Given the description of an element on the screen output the (x, y) to click on. 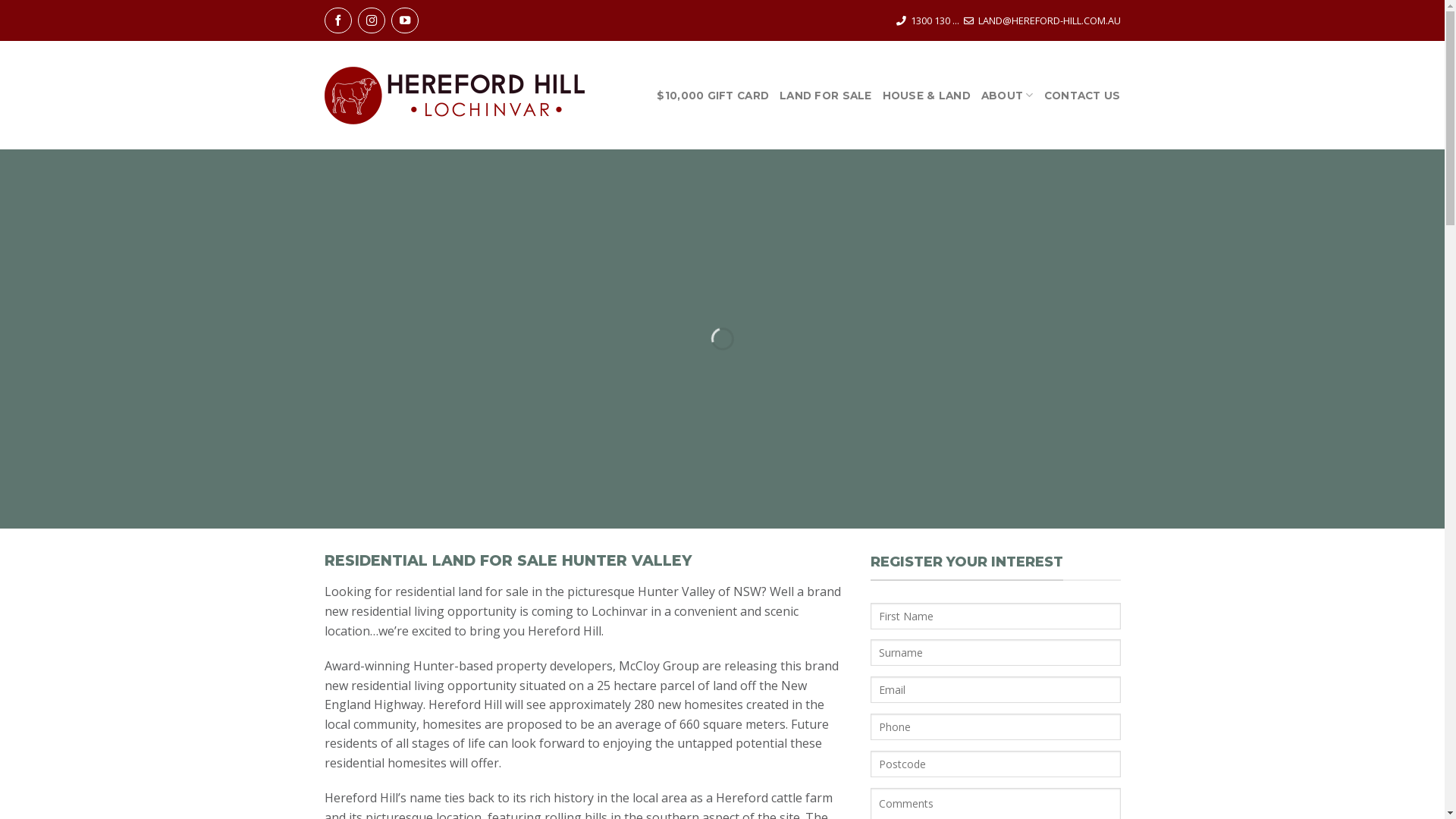
CONTACT US Element type: text (1082, 95)
LAND@HEREFORD-HILL.COM.AU Element type: text (1049, 20)
Follow on Facebook Element type: hover (337, 20)
Follow on YouTube Element type: hover (404, 20)
$10,000 GIFT CARD Element type: text (712, 95)
LAND FOR SALE Element type: text (825, 95)
Follow on Instagram Element type: hover (371, 20)
ABOUT Element type: text (1007, 94)
Hereford Hill - Lochinvar Element type: hover (454, 95)
1300 130 ... Element type: text (934, 20)
HOUSE & LAND Element type: text (926, 95)
